Given the description of an element on the screen output the (x, y) to click on. 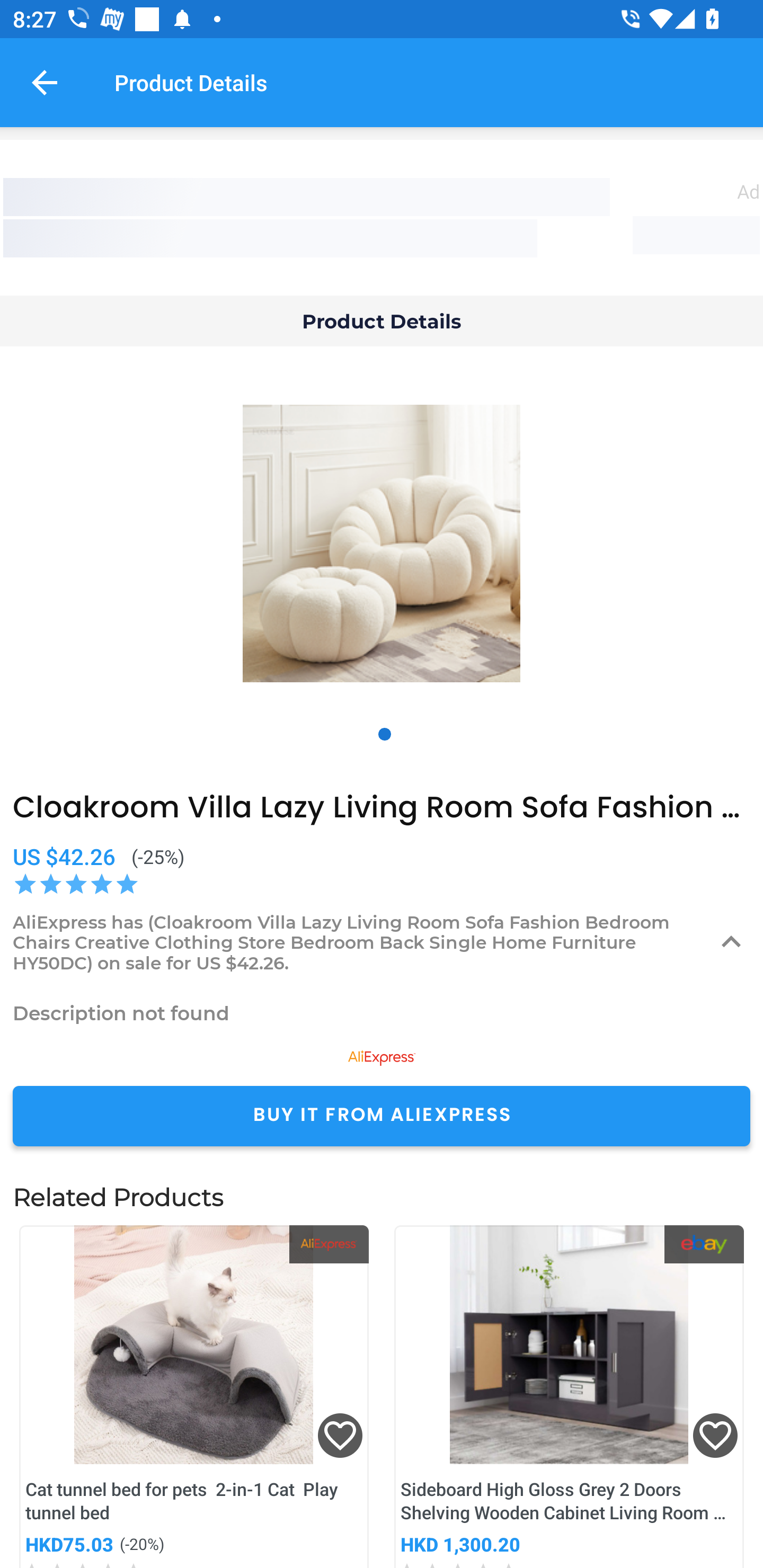
Navigate up (44, 82)
Description not found (381, 1012)
BUY IT FROM ALIEXPRESS (381, 1115)
